Given the description of an element on the screen output the (x, y) to click on. 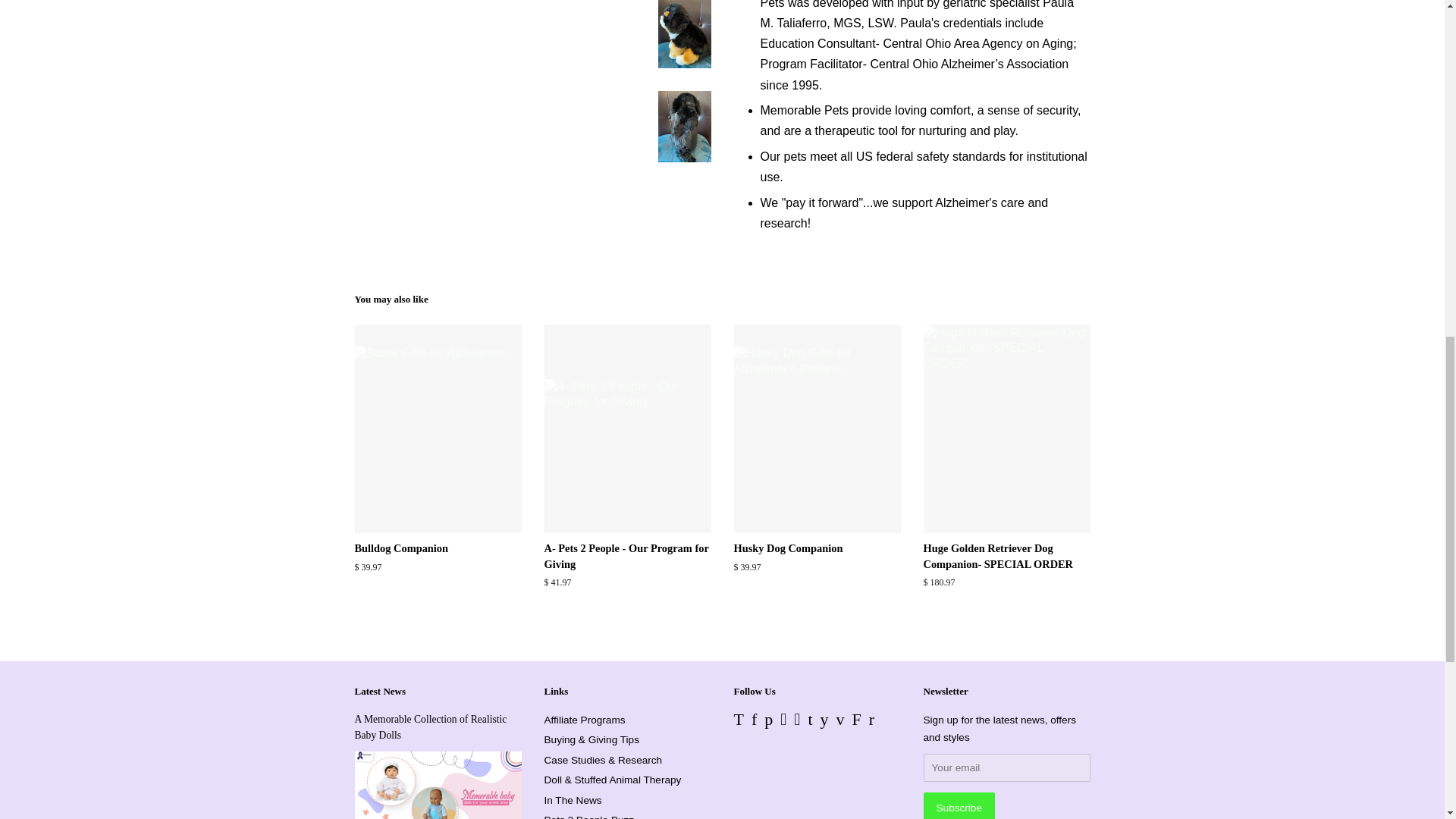
Subscribe (958, 805)
